Given the description of an element on the screen output the (x, y) to click on. 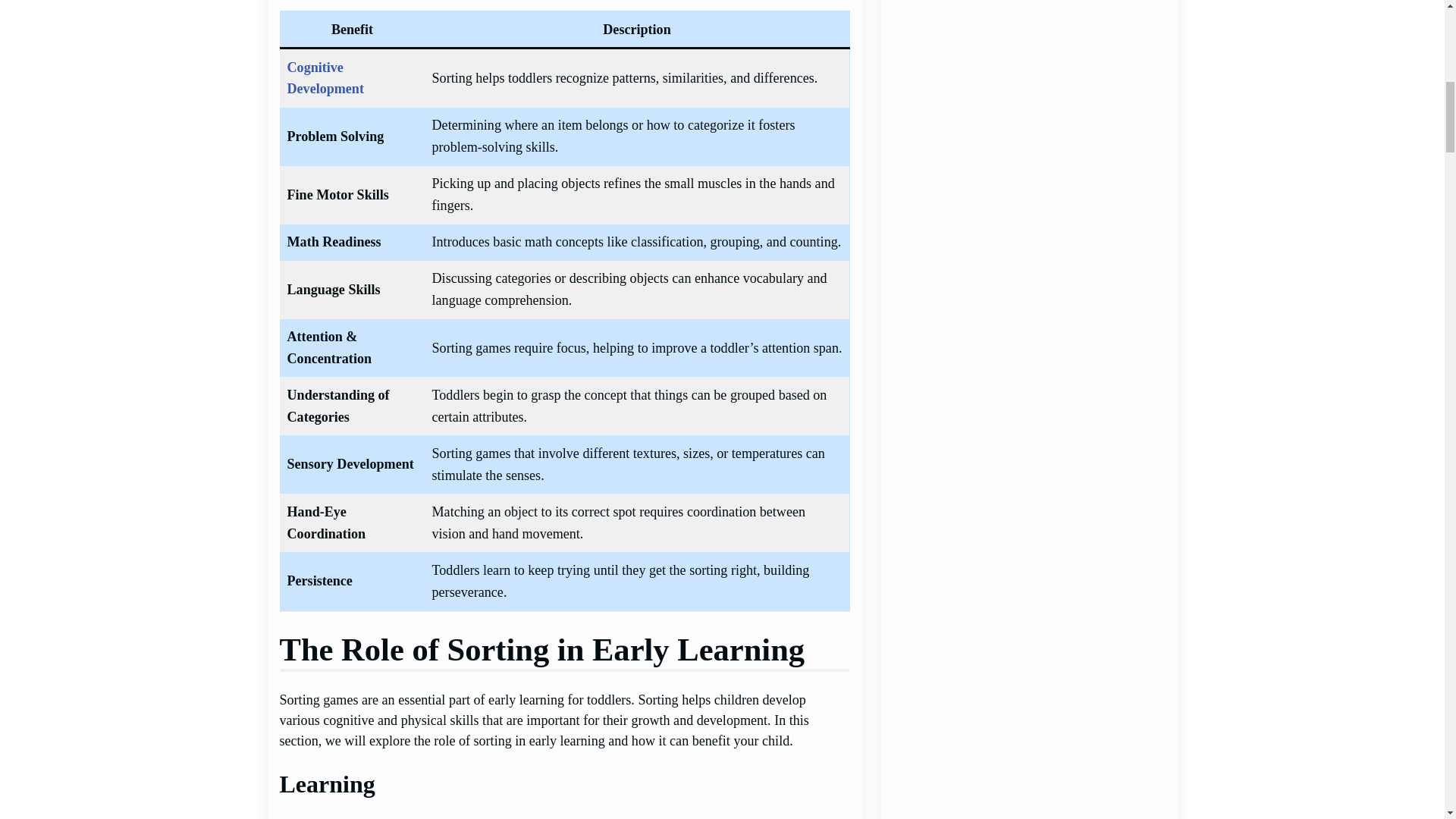
Cognitive Development (325, 77)
Best Role Play Toys for Kids in 2023 20 (1027, 689)
Best Wooden Dolls Houses for Kids in 2023 19 (1027, 534)
